Given the description of an element on the screen output the (x, y) to click on. 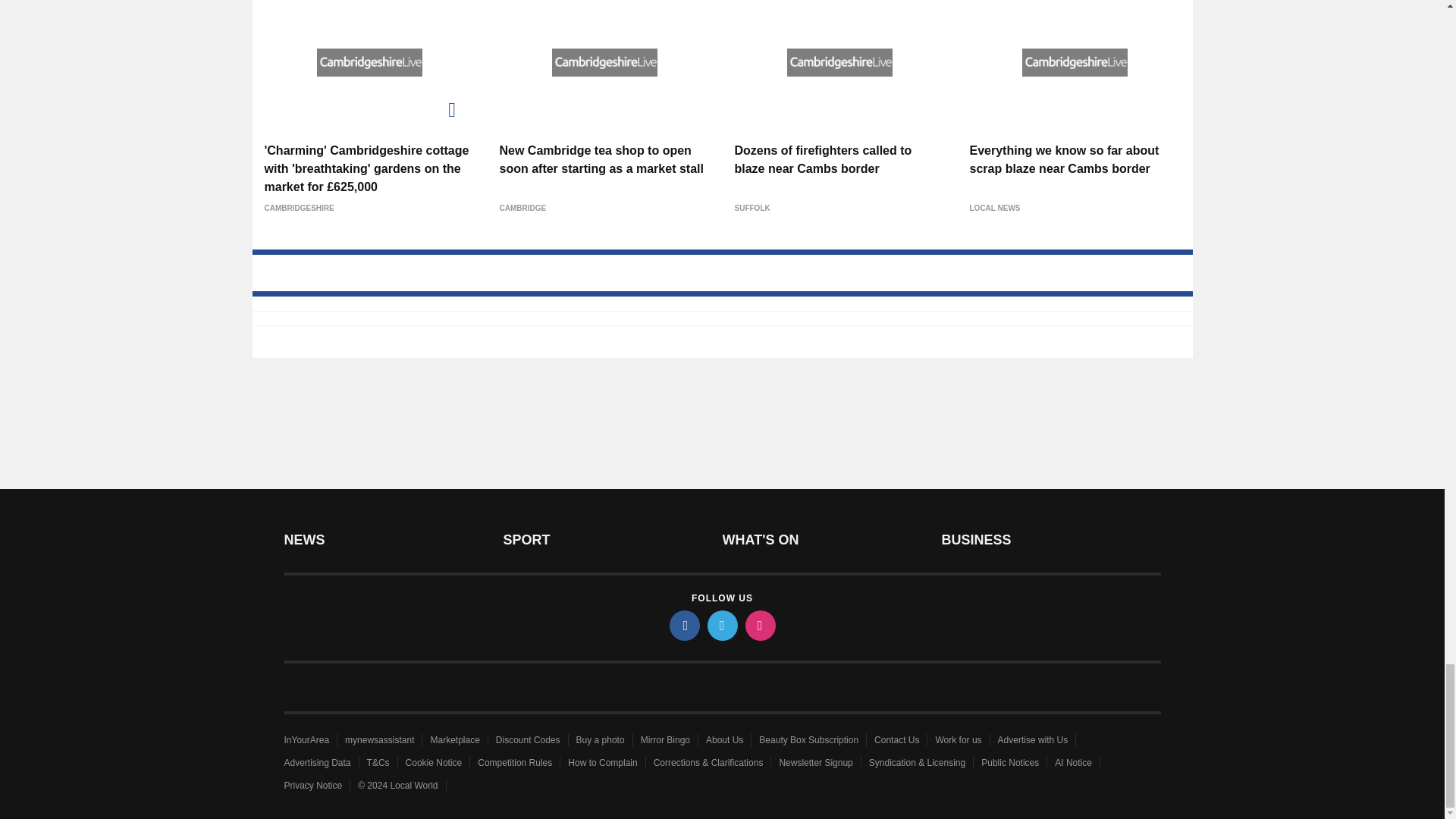
facebook (683, 625)
instagram (759, 625)
twitter (721, 625)
